Given the description of an element on the screen output the (x, y) to click on. 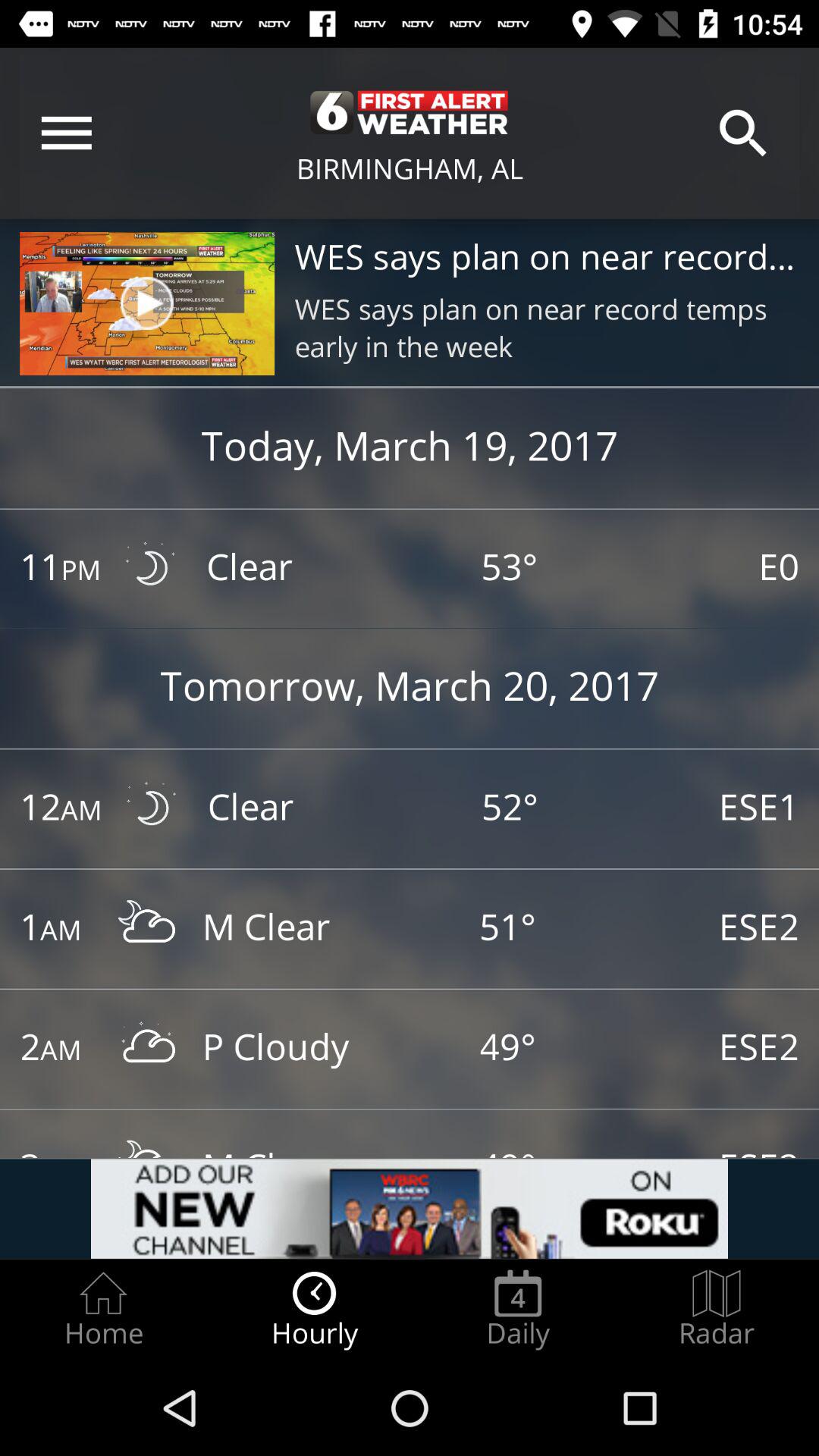
launch radio button next to hourly radio button (103, 1309)
